Given the description of an element on the screen output the (x, y) to click on. 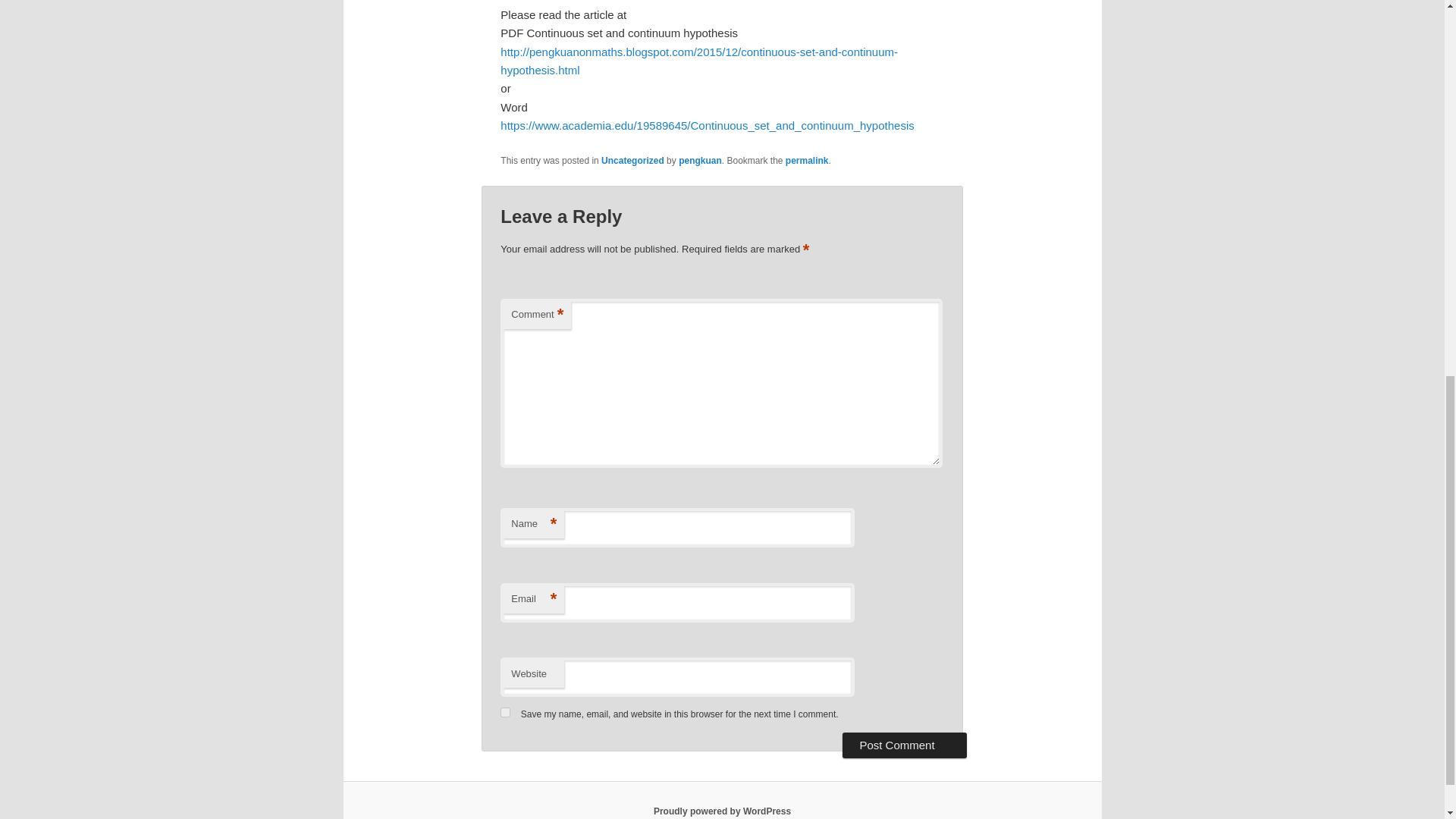
yes (505, 712)
pengkuan (700, 160)
Proudly powered by WordPress (721, 810)
Uncategorized (632, 160)
permalink (807, 160)
Permalink to Continuous set and continuum hypothesis (807, 160)
Semantic Personal Publishing Platform (721, 810)
Post Comment (904, 745)
Post Comment (904, 745)
